Given the description of an element on the screen output the (x, y) to click on. 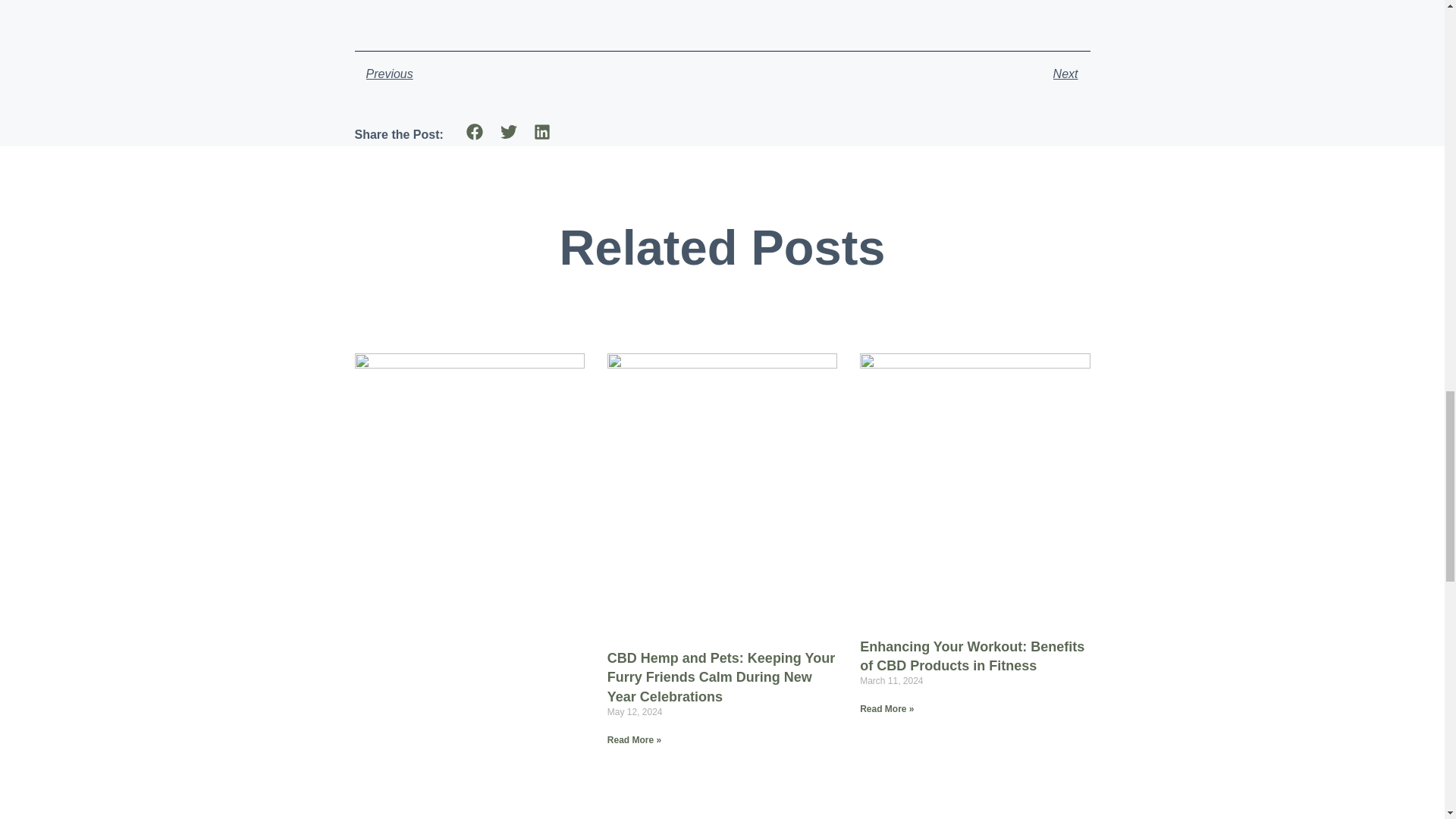
Enhancing Your Workout: Benefits of CBD Products in Fitness (972, 655)
